Given the description of an element on the screen output the (x, y) to click on. 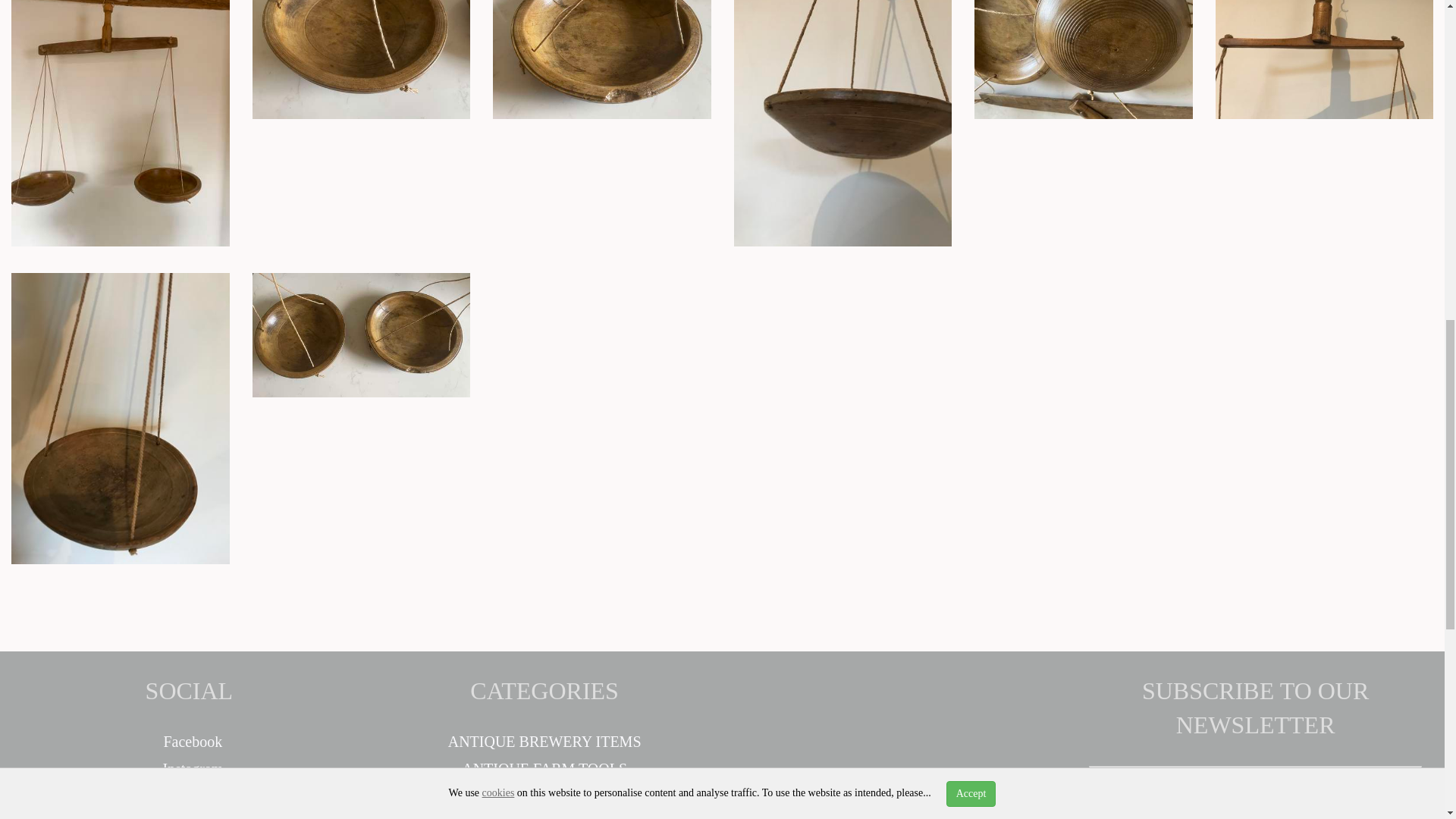
ANTIQUE BREWERY ITEMS (545, 741)
  Facebook (188, 741)
  Instagram (188, 768)
ANTIQUE GARDEN TOOLS (544, 795)
ANTIQUE FARM TOOLS (544, 768)
